Given the description of an element on the screen output the (x, y) to click on. 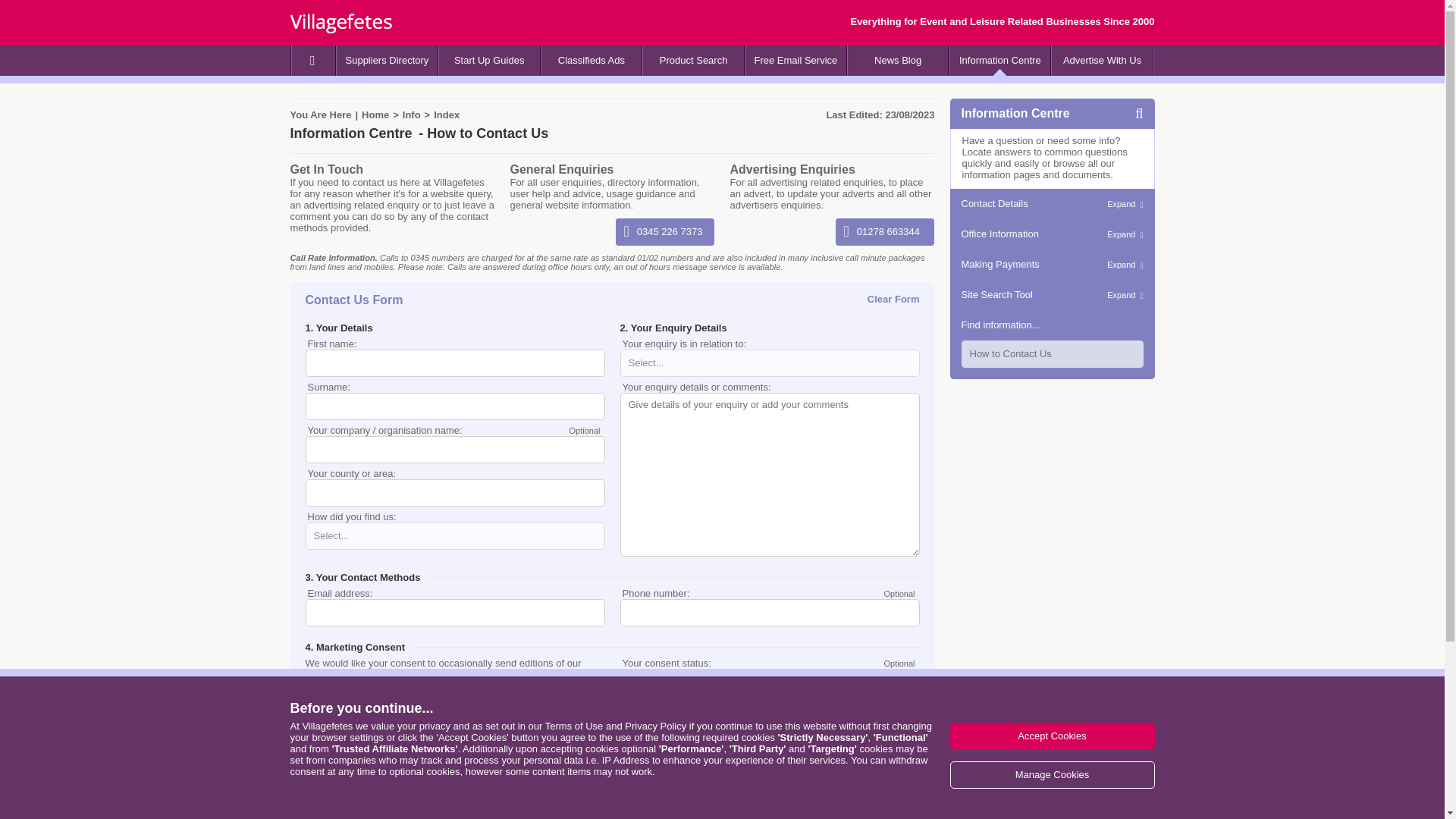
Privacy Policy Statement (654, 726)
Home (374, 114)
01278 663344 (884, 231)
Free Email Service (795, 60)
Suppliers Directory (387, 60)
Accept Cookies (1051, 736)
Information Centre (999, 60)
Privacy Policy (375, 762)
0345 226 7373 (664, 231)
Start Up Guides (489, 60)
Info (411, 114)
Product Search (693, 60)
Terms and Conditions of Use (574, 726)
Index (446, 114)
